Given the description of an element on the screen output the (x, y) to click on. 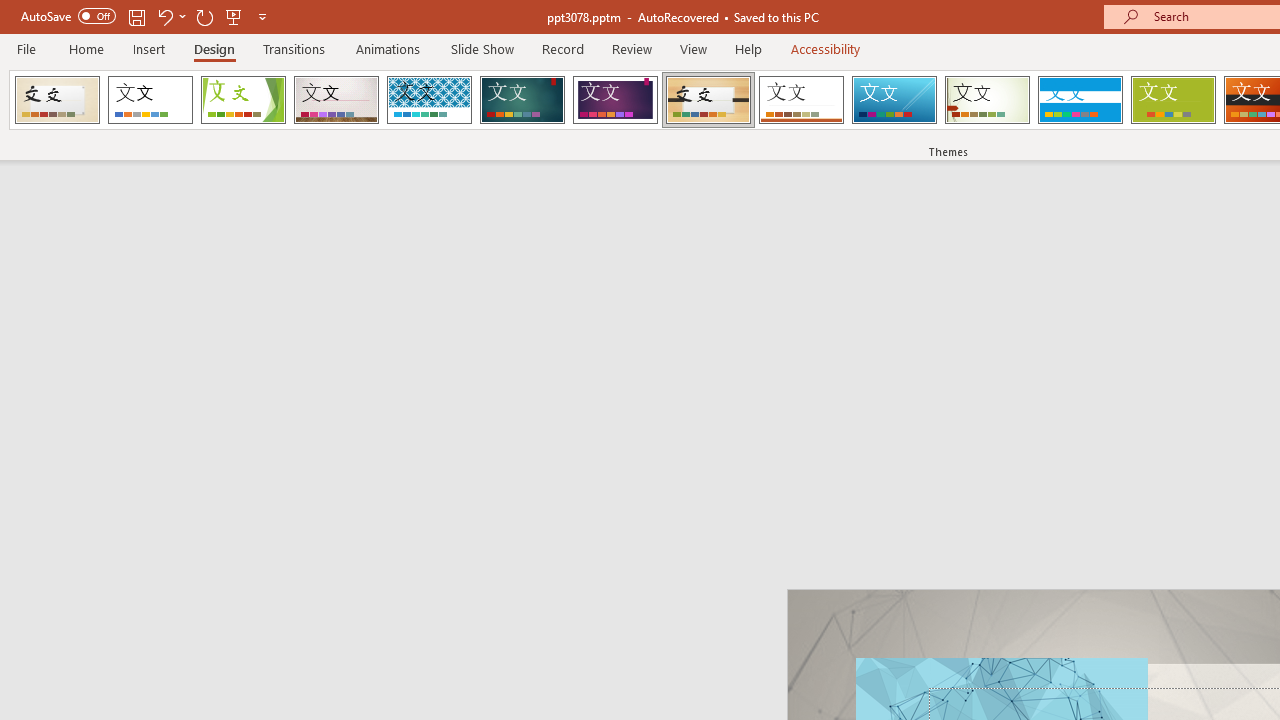
Wisp (987, 100)
Basis (1172, 100)
